Given the description of an element on the screen output the (x, y) to click on. 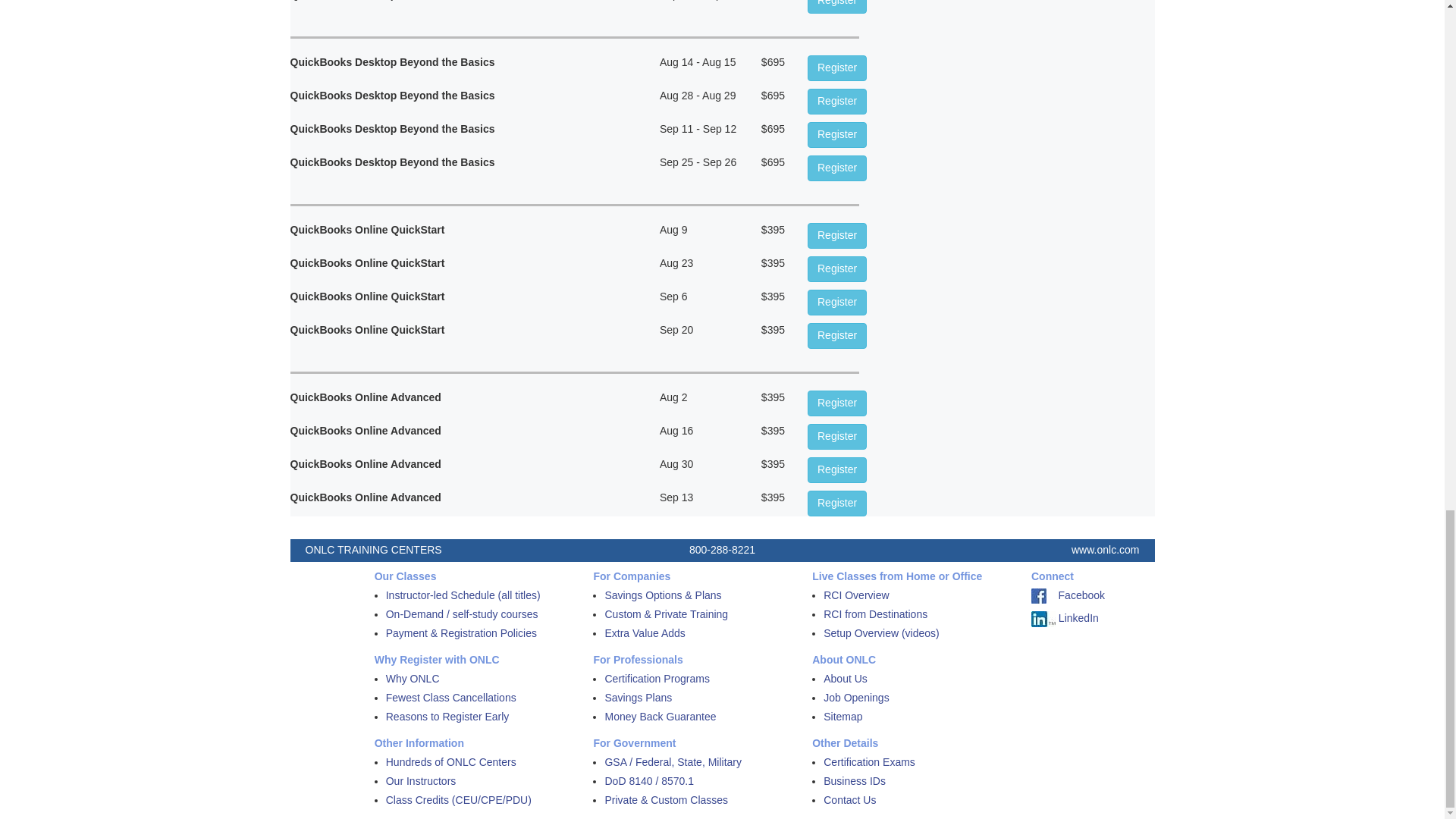
View outline, dates and pricing (837, 235)
View outline, dates and pricing (837, 135)
View outline, dates and pricing (837, 335)
View outline, dates and pricing (837, 6)
View outline, dates and pricing (837, 167)
View outline, dates and pricing (837, 68)
View outline, dates and pricing (837, 101)
View outline, dates and pricing (837, 302)
View outline, dates and pricing (837, 268)
